Given the description of an element on the screen output the (x, y) to click on. 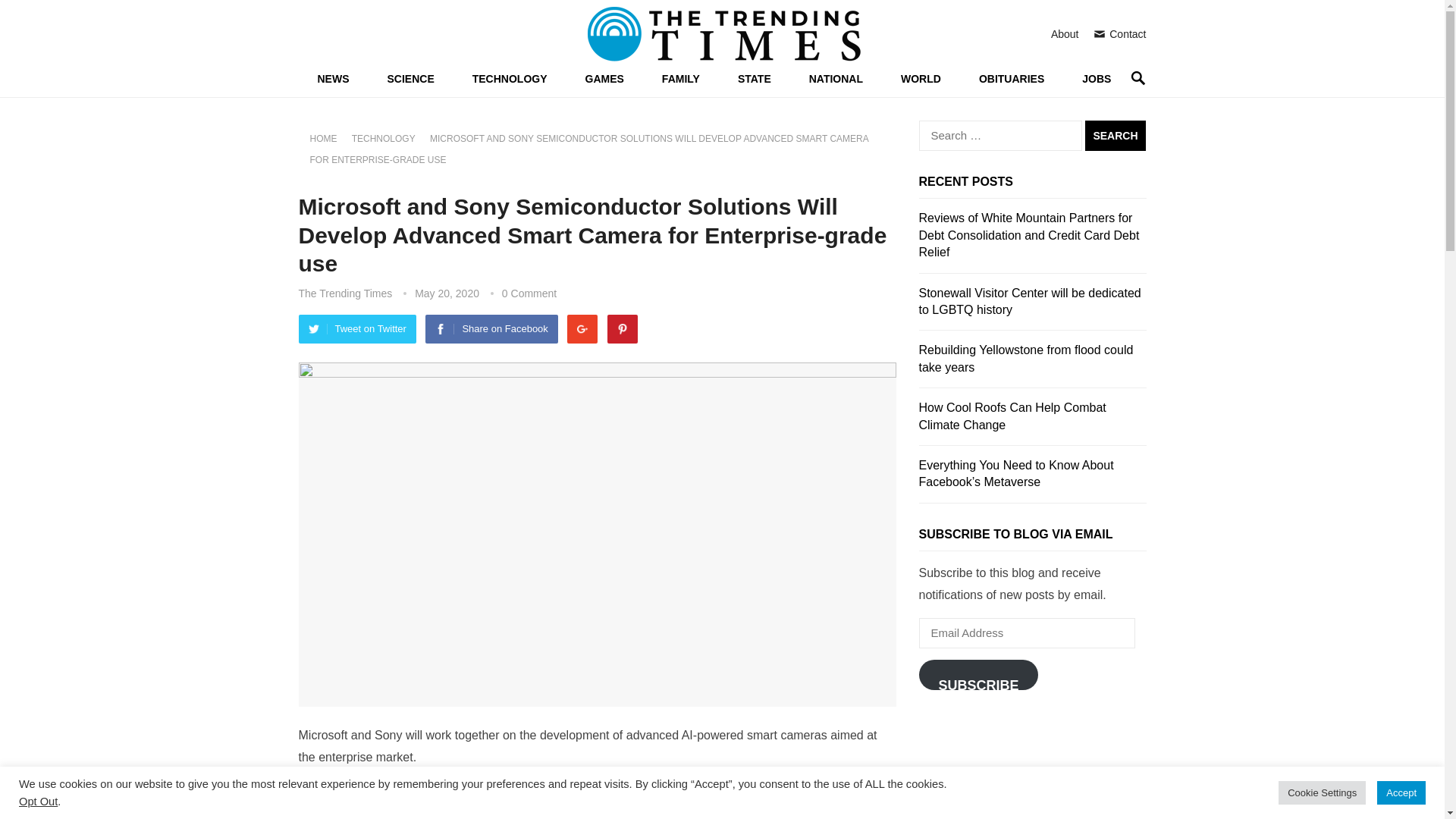
HOME (327, 138)
FAMILY (681, 78)
Contact (1119, 33)
GAMES (604, 78)
Search (1114, 135)
The Trending Times (345, 293)
TECHNOLOGY (389, 138)
JOBS (1095, 78)
Share on Facebook (491, 328)
About (1064, 33)
